Given the description of an element on the screen output the (x, y) to click on. 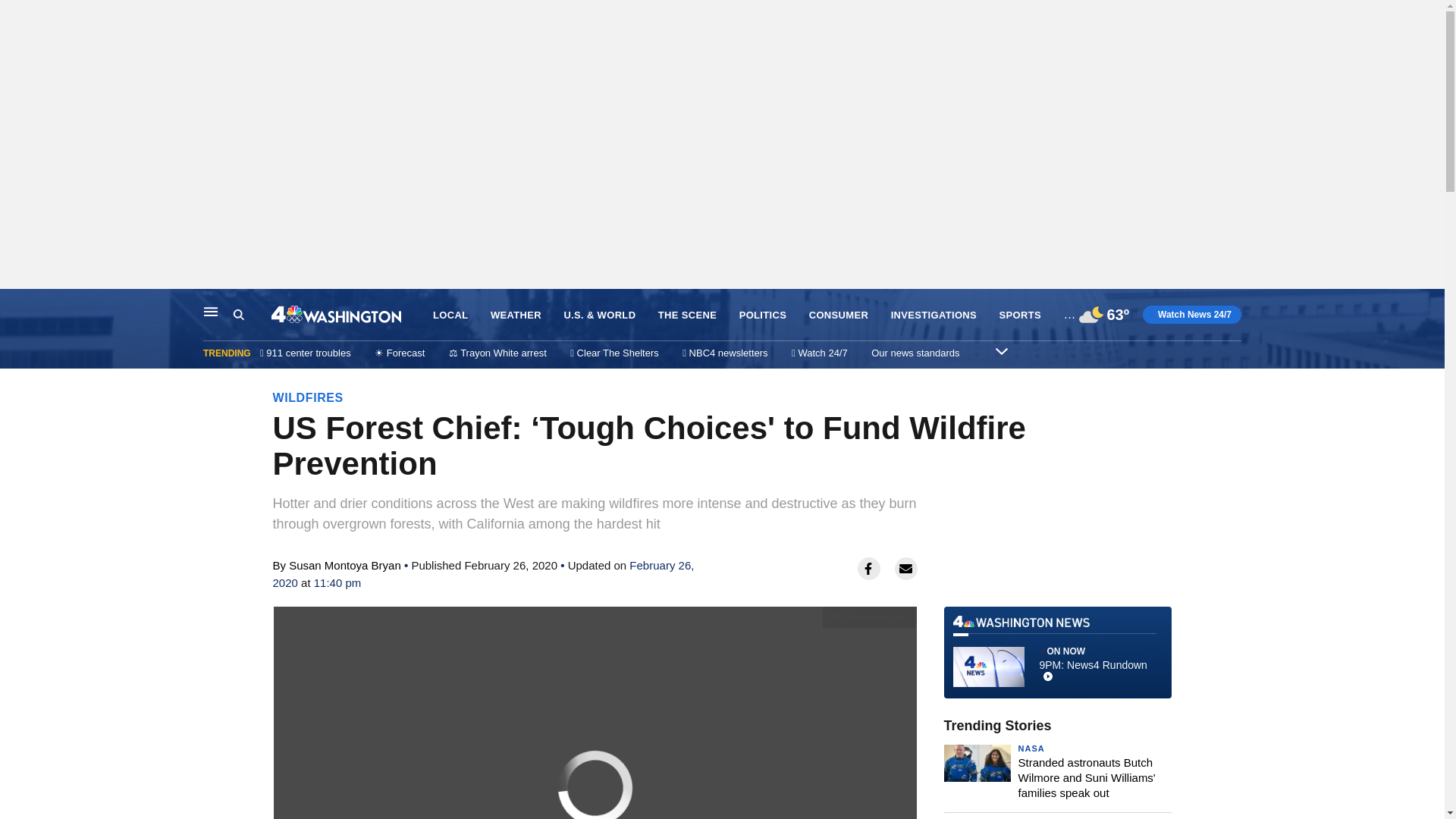
Expand (1001, 350)
Search (252, 314)
NEWSLETTERS (1101, 315)
WILDFIRES (308, 397)
Search (238, 314)
Skip to content (16, 304)
Our news standards (914, 352)
WEATHER (515, 315)
CONSUMER (838, 315)
INVESTIGATIONS (933, 315)
